Given the description of an element on the screen output the (x, y) to click on. 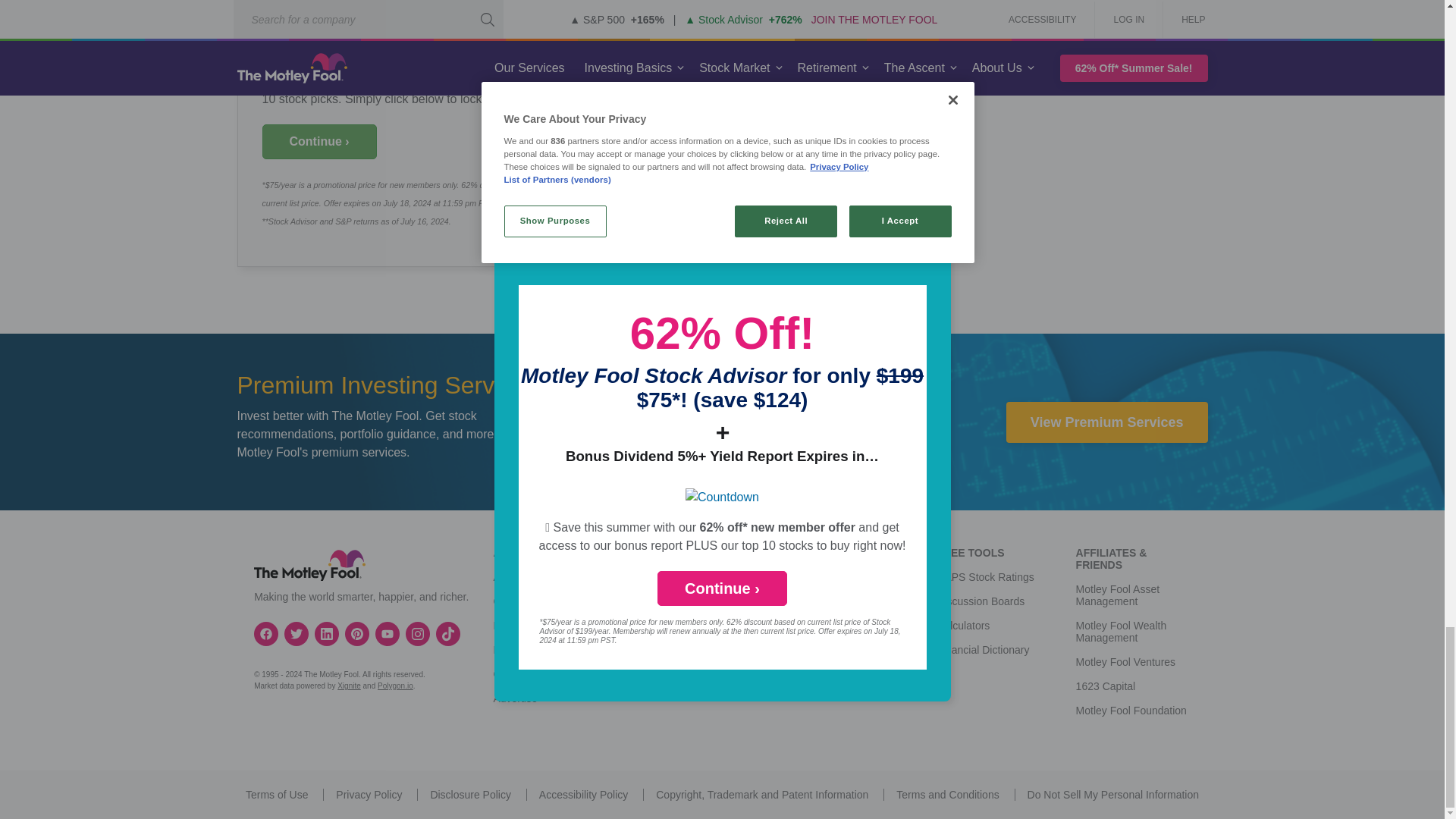
Disclosure Policy (470, 794)
Accessibility Policy (582, 794)
Terms of Use (276, 794)
Privacy Policy (368, 794)
Terms and Conditions (947, 794)
Copyright, Trademark and Patent Information (761, 794)
Do Not Sell My Personal Information. (1112, 794)
